Given the description of an element on the screen output the (x, y) to click on. 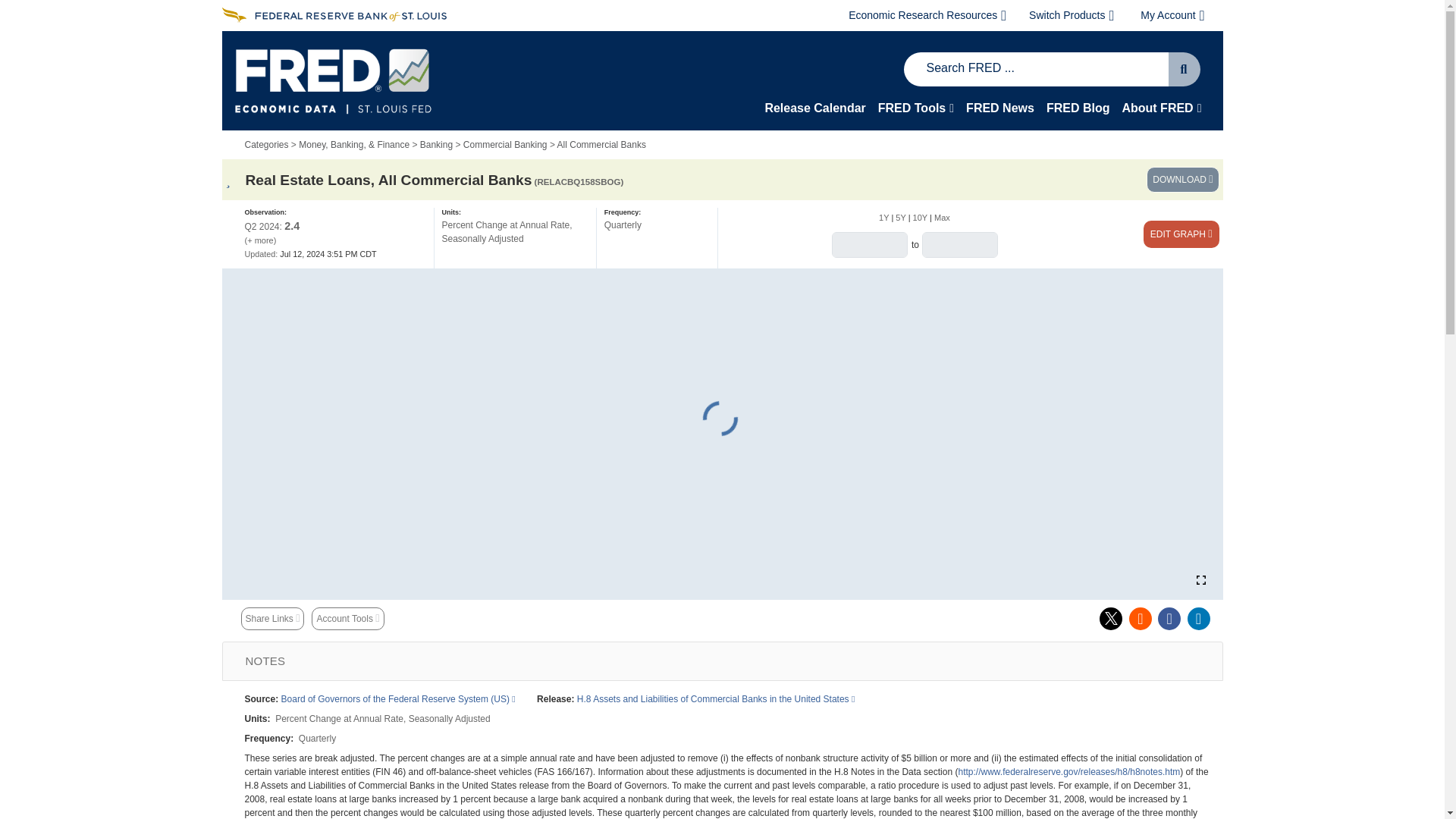
Jul 12, 2024 3:51 PM CDT (309, 253)
